Given the description of an element on the screen output the (x, y) to click on. 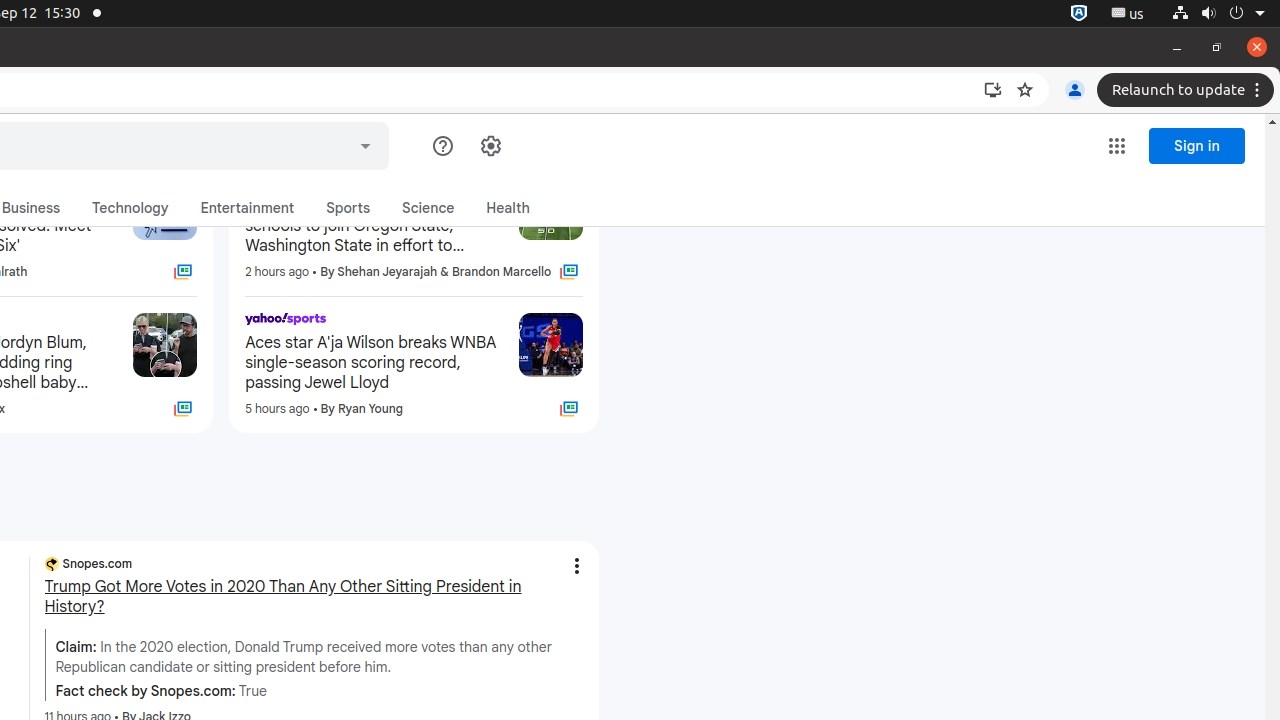
Bills vs. Dolphins Prediction, Pick, Odds, How to Watch Thursday Night Football Week 2 Element type: link (414, 89)
Technology Element type: menu-item (130, 208)
You Element type: push-button (1075, 90)
Sports Element type: menu-item (348, 208)
Install Google News Element type: push-button (993, 90)
